Given the description of an element on the screen output the (x, y) to click on. 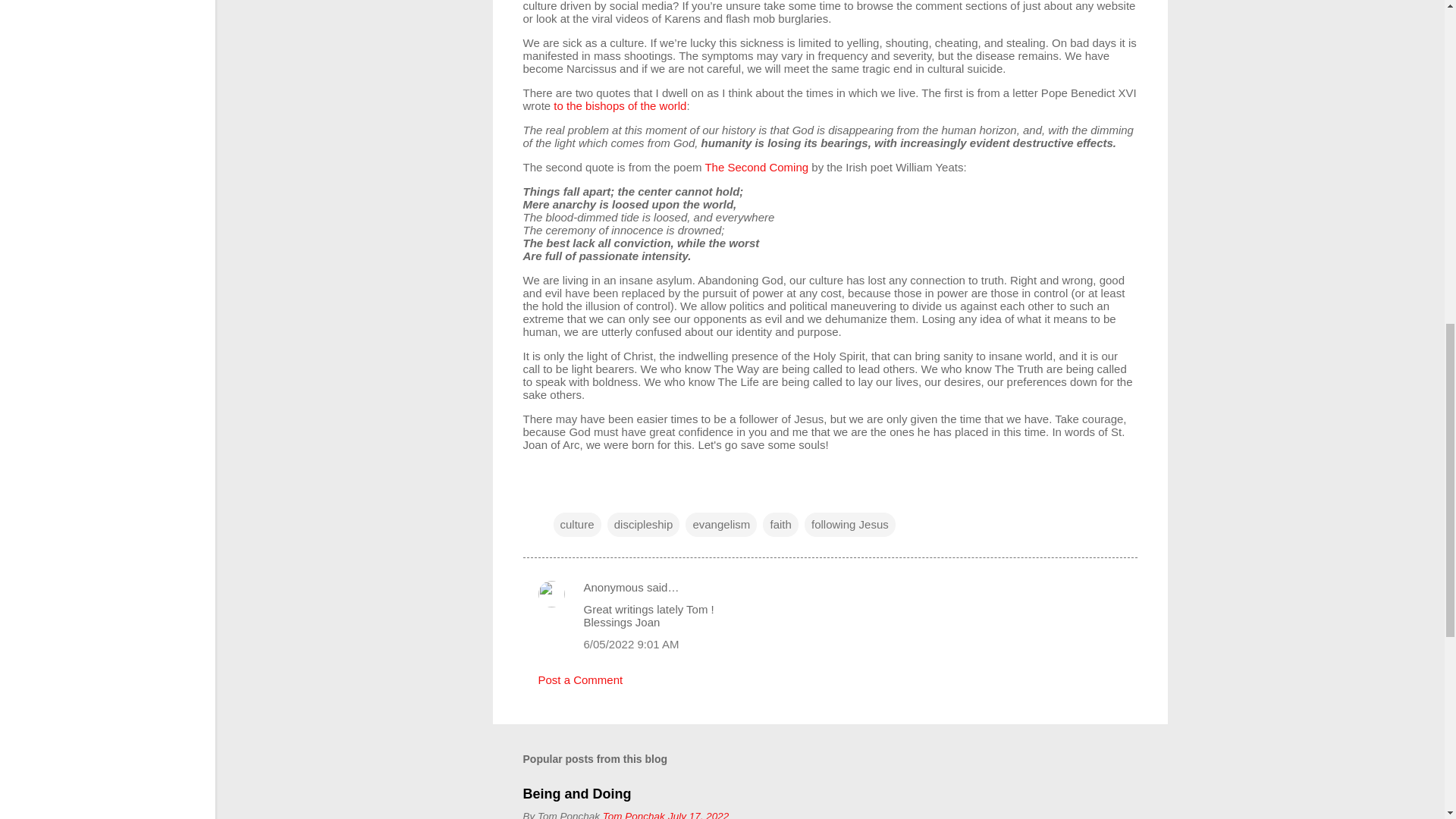
Post a Comment (580, 679)
Tom Ponchak (633, 814)
The Second Coming (756, 166)
evangelism (721, 524)
Being and Doing (576, 793)
culture (577, 524)
following Jesus (850, 524)
discipleship (643, 524)
July 17, 2022 (698, 814)
Email Post (562, 492)
